Given the description of an element on the screen output the (x, y) to click on. 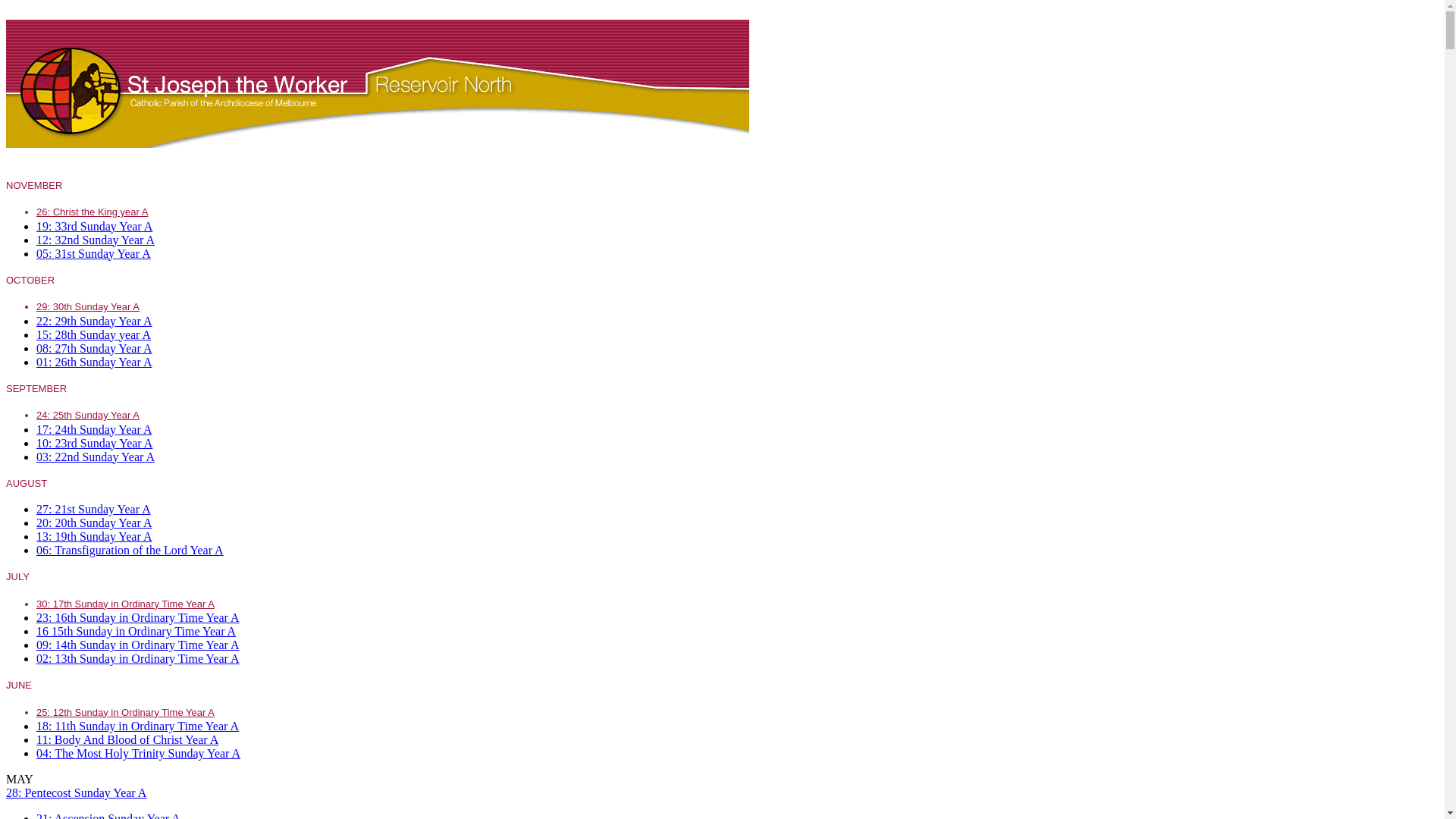
24: 25th Sunday Year A Element type: text (87, 414)
27: 21st Sunday Year A Element type: text (93, 508)
06: Transfiguration of the Lord Year A Element type: text (129, 549)
05: 31st Sunday Year A Element type: text (93, 253)
13: 19th Sunday Year A Element type: text (93, 536)
25: 12th Sunday in Ordinary Time Year A Element type: text (125, 712)
16 15th Sunday in Ordinary Time Year A Element type: text (135, 630)
22: 29th Sunday Year A Element type: text (93, 319)
23: 16th Sunday in Ordinary Time Year A Element type: text (137, 617)
26: Christ the King year A Element type: text (91, 211)
28: Pentecost Sunday Year A Element type: text (76, 792)
19: 33rd Sunday Year A Element type: text (94, 225)
03: 22nd Sunday Year A Element type: text (95, 456)
30: 17th Sunday in Ordinary Time Year A Element type: text (125, 602)
20: 20th Sunday Year A Element type: text (93, 522)
02: 13th Sunday in Ordinary Time Year A Element type: text (137, 658)
18: 11th Sunday in Ordinary Time Year A Element type: text (137, 725)
17: 24th Sunday Year A Element type: text (93, 429)
12: 32nd Sunday Year A Element type: text (95, 239)
10: 23rd Sunday Year A Element type: text (94, 442)
11: Body And Blood of Christ Year A Element type: text (127, 739)
04: The Most Holy Trinity Sunday Year A Element type: text (138, 752)
15: 28th Sunday year A Element type: text (93, 333)
01: 26th Sunday Year A Element type: text (93, 360)
08: 27th Sunday Year A Element type: text (93, 347)
29: 30th Sunday Year A Element type: text (87, 306)
09: 14th Sunday in Ordinary Time Year A Element type: text (137, 644)
